Given the description of an element on the screen output the (x, y) to click on. 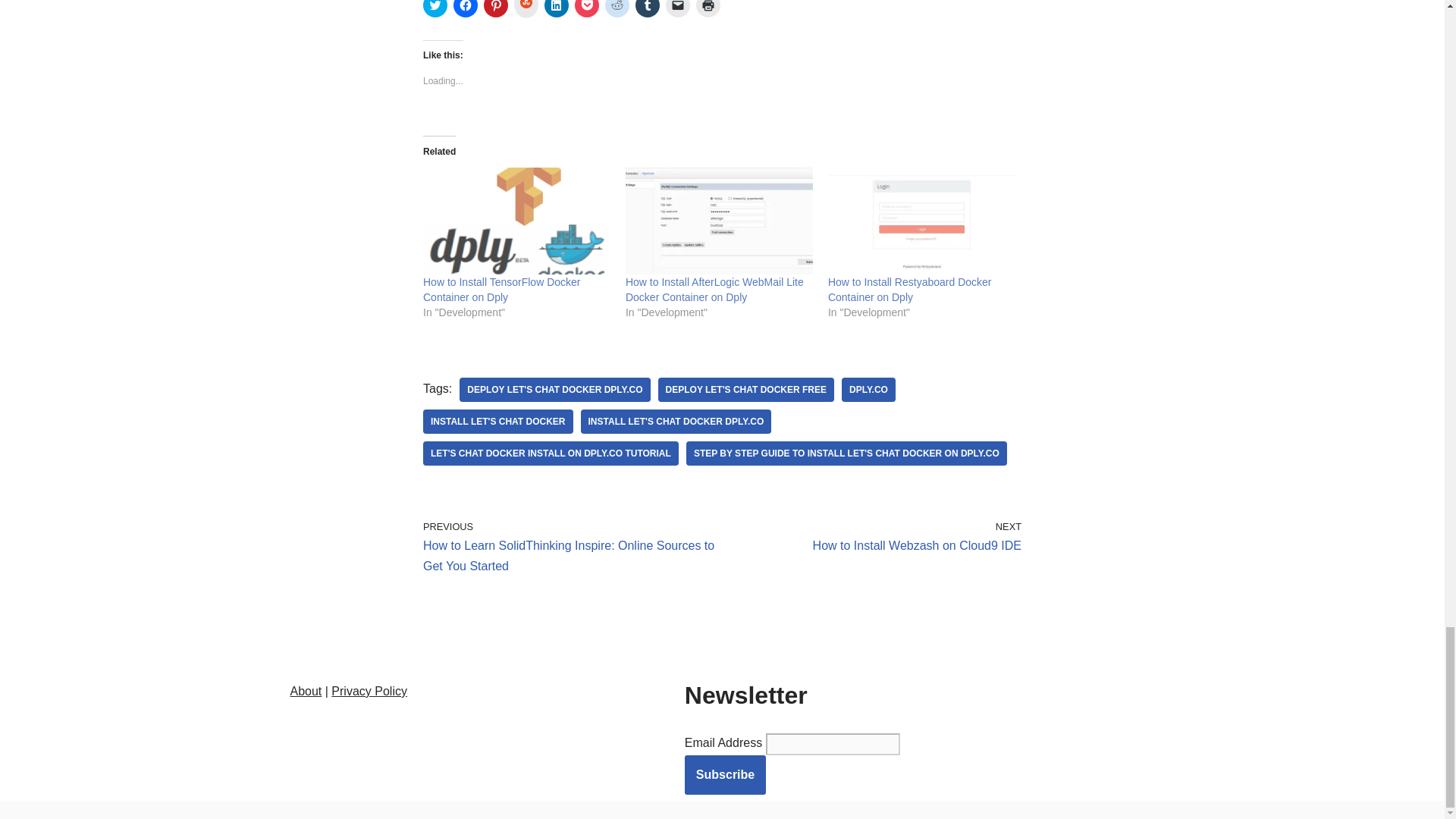
Click to share on StumbleUpon (525, 9)
Click to share on Facebook (464, 8)
Click to email a link to a friend (677, 8)
Click to share on Pocket (586, 8)
Click to share on Tumblr (646, 8)
Click to share on LinkedIn (556, 8)
Click to share on Reddit (616, 8)
Click to share on Twitter (434, 8)
Click to share on Pinterest (495, 8)
Subscribe (724, 774)
